Given the description of an element on the screen output the (x, y) to click on. 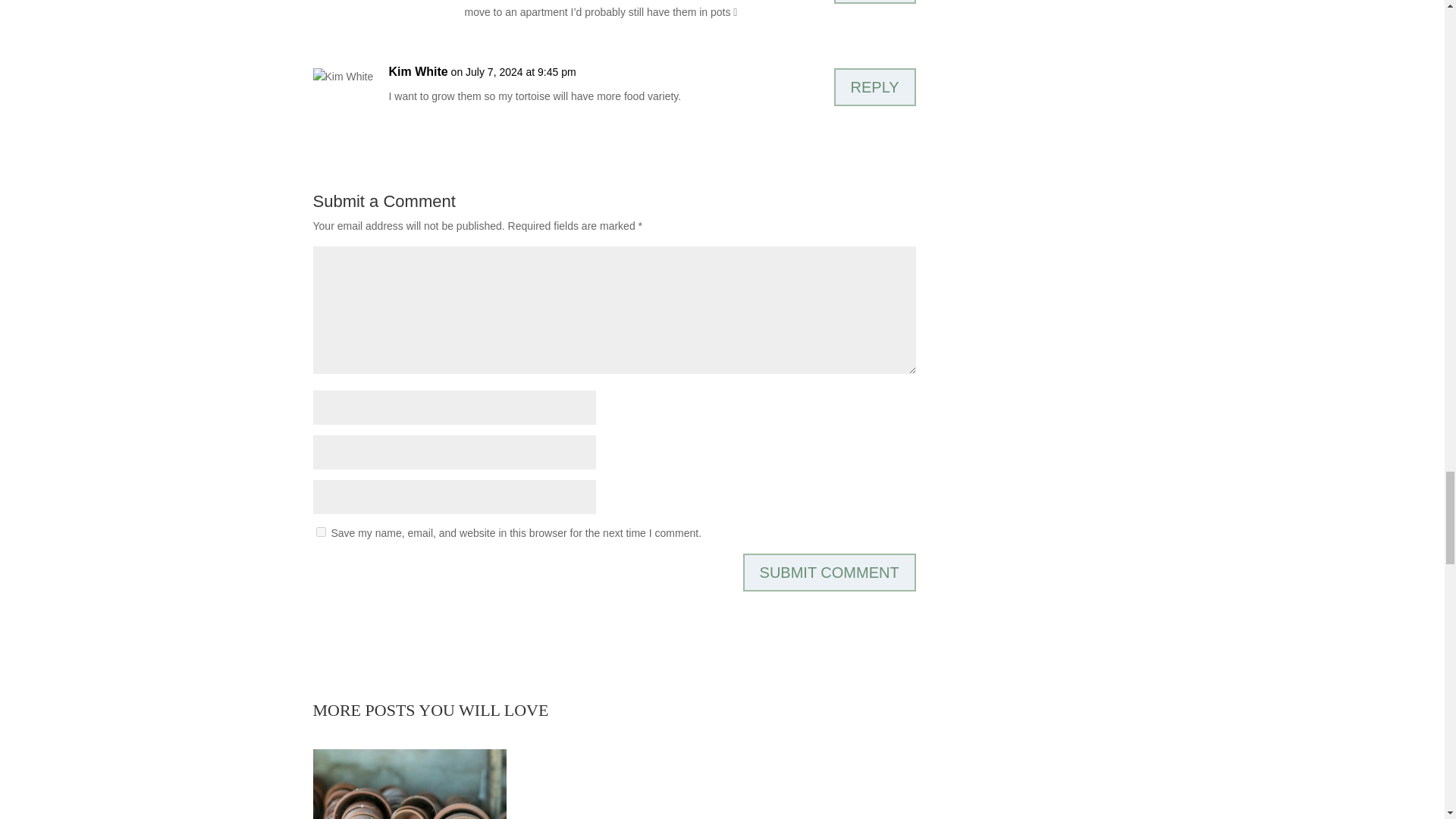
REPLY (874, 86)
REPLY (874, 2)
yes (319, 532)
